Given the description of an element on the screen output the (x, y) to click on. 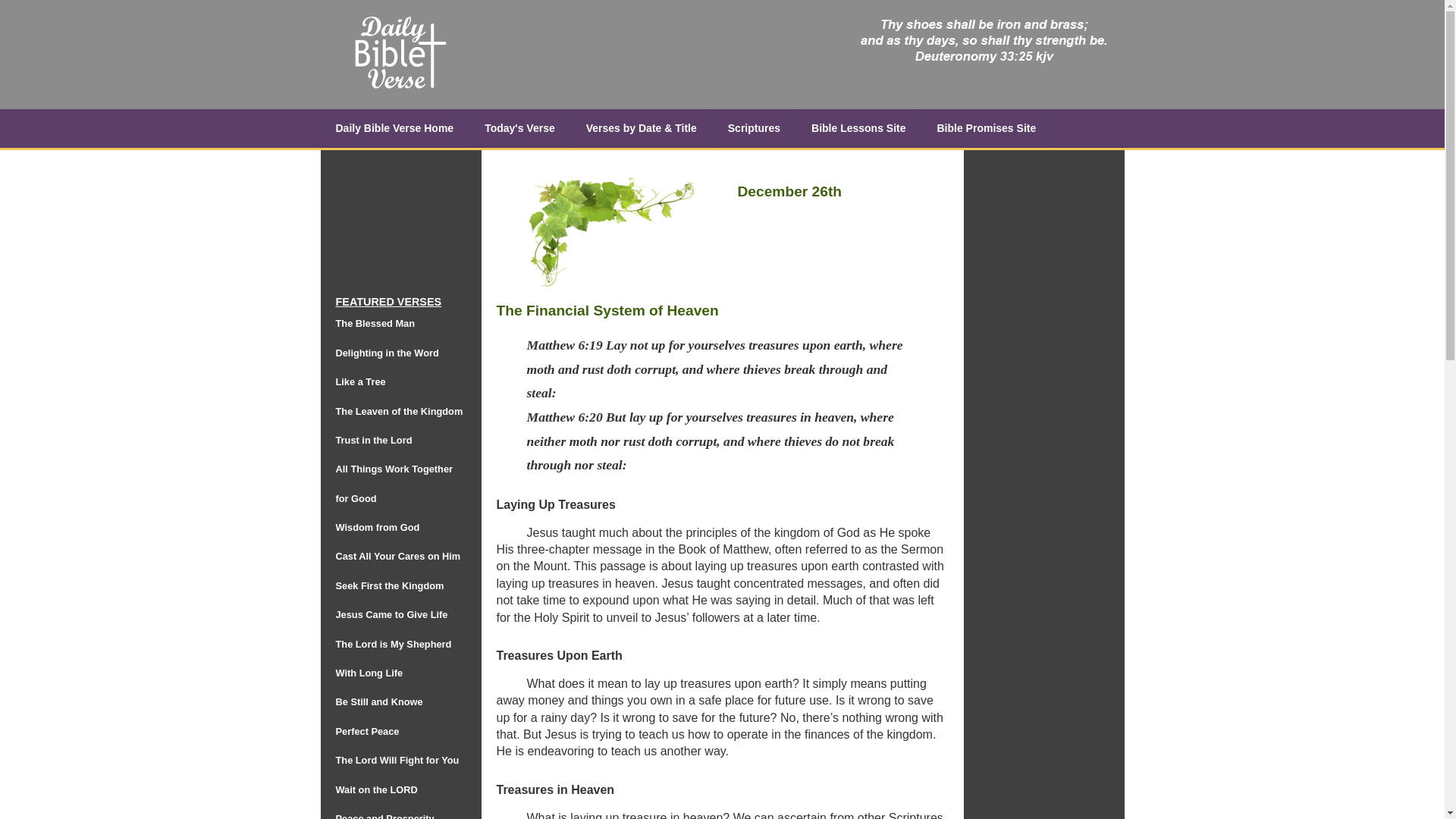
Bible Lessons Site (858, 128)
Seek First the Kingdom (389, 585)
Wait on the LORD (375, 789)
Daily Bible Verse Home (394, 128)
With Long Life (368, 672)
The Lord Will Fight for You (396, 759)
Like a Tree (359, 381)
Bible Promises Site (986, 128)
Perfect Peace (366, 731)
Scriptures (754, 128)
All Things Work Together for Good (393, 483)
The Leaven of the Kingdom (398, 410)
Be Still and Knowe (378, 701)
Today's Verse (519, 128)
Advertisement (1038, 391)
